Given the description of an element on the screen output the (x, y) to click on. 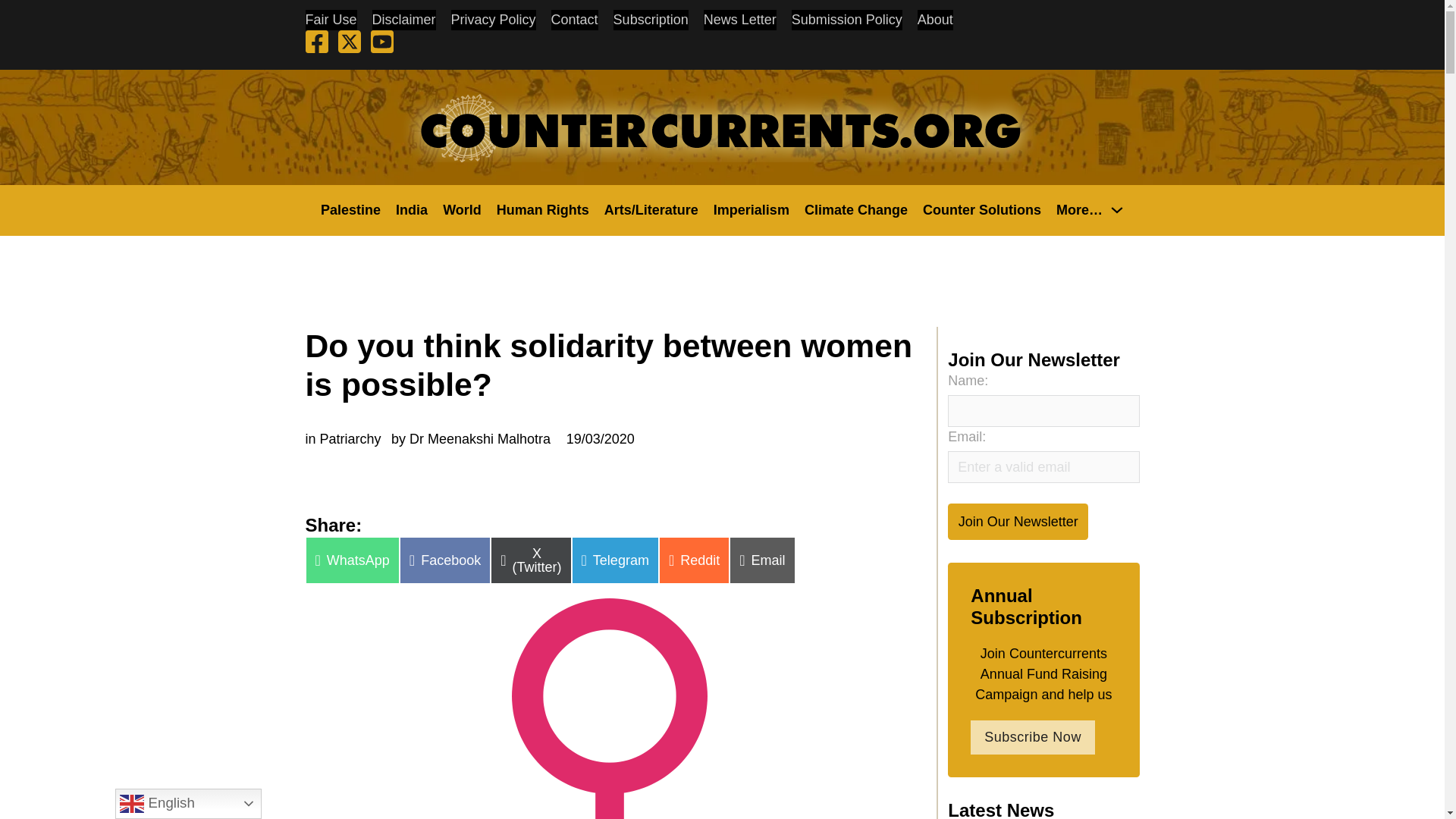
Palestine (350, 209)
Disclaimer (403, 19)
News Letter (739, 19)
Do you think solidarity between women is possible? 2 (609, 708)
Counter Solutions (982, 209)
Join Our Newsletter (1017, 520)
Imperialism (751, 209)
About (935, 19)
World (461, 209)
Subscription (650, 19)
